Given the description of an element on the screen output the (x, y) to click on. 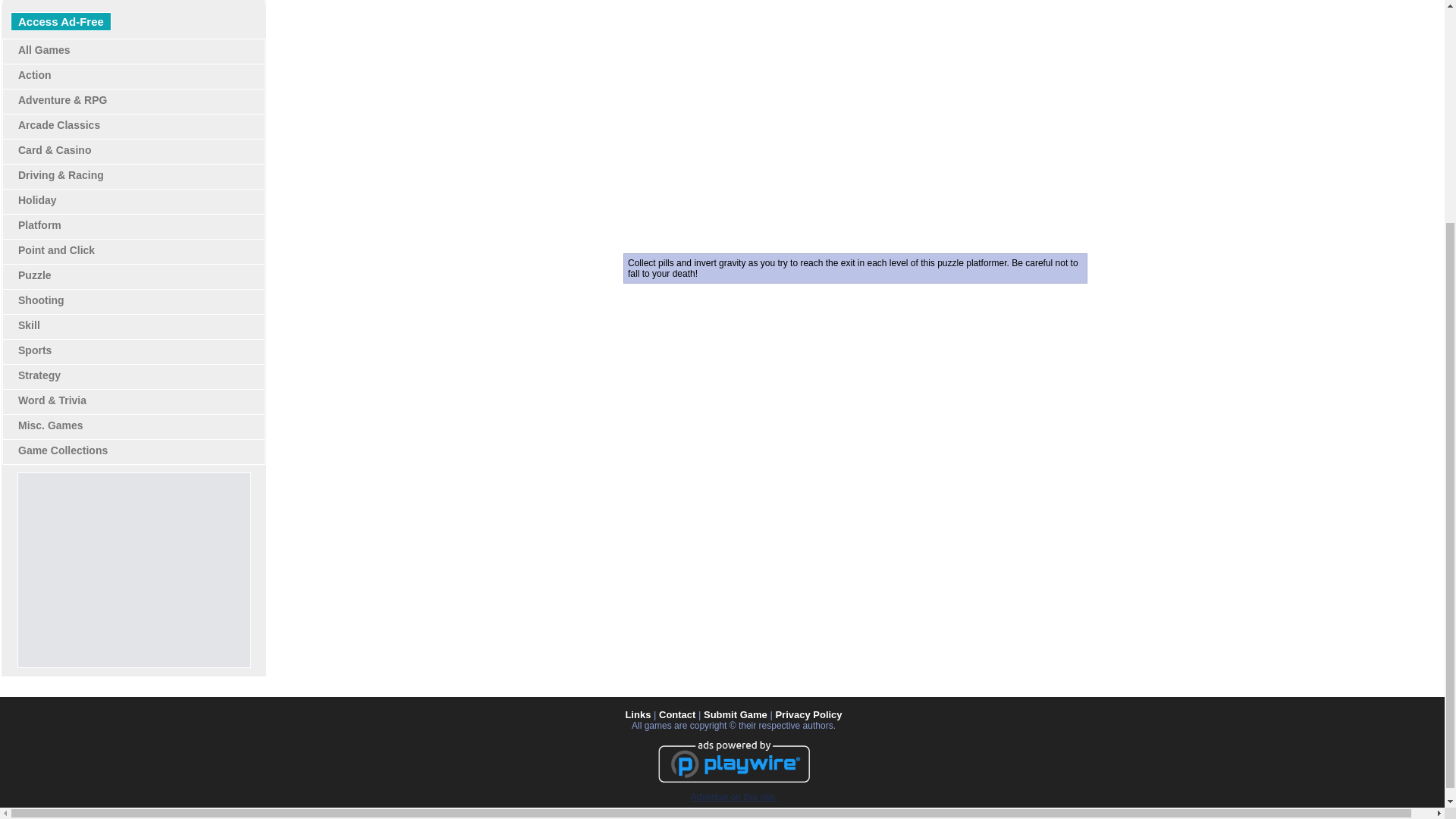
Point and Click (55, 250)
Links (637, 714)
Action (33, 74)
Arcade Classics (58, 124)
Misc. Games (49, 425)
Game Collections (62, 450)
Skill (28, 325)
Sports (33, 349)
Contact (677, 714)
Strategy (39, 375)
All Games (43, 50)
Holiday (36, 200)
Platform (39, 224)
Access Ad-Free (61, 21)
Advertise on this site. (733, 796)
